Given the description of an element on the screen output the (x, y) to click on. 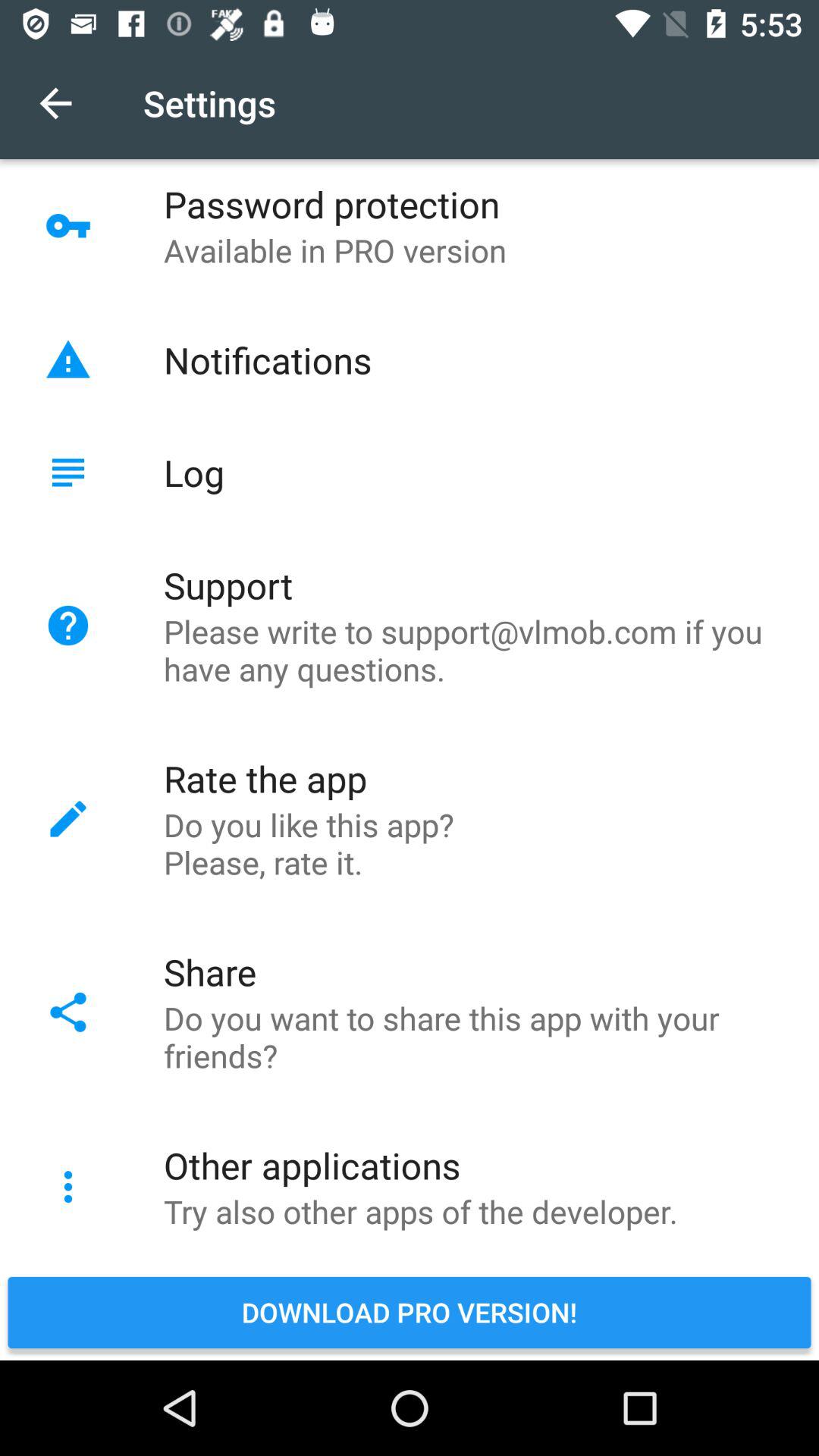
click icon next to the settings item (55, 103)
